Given the description of an element on the screen output the (x, y) to click on. 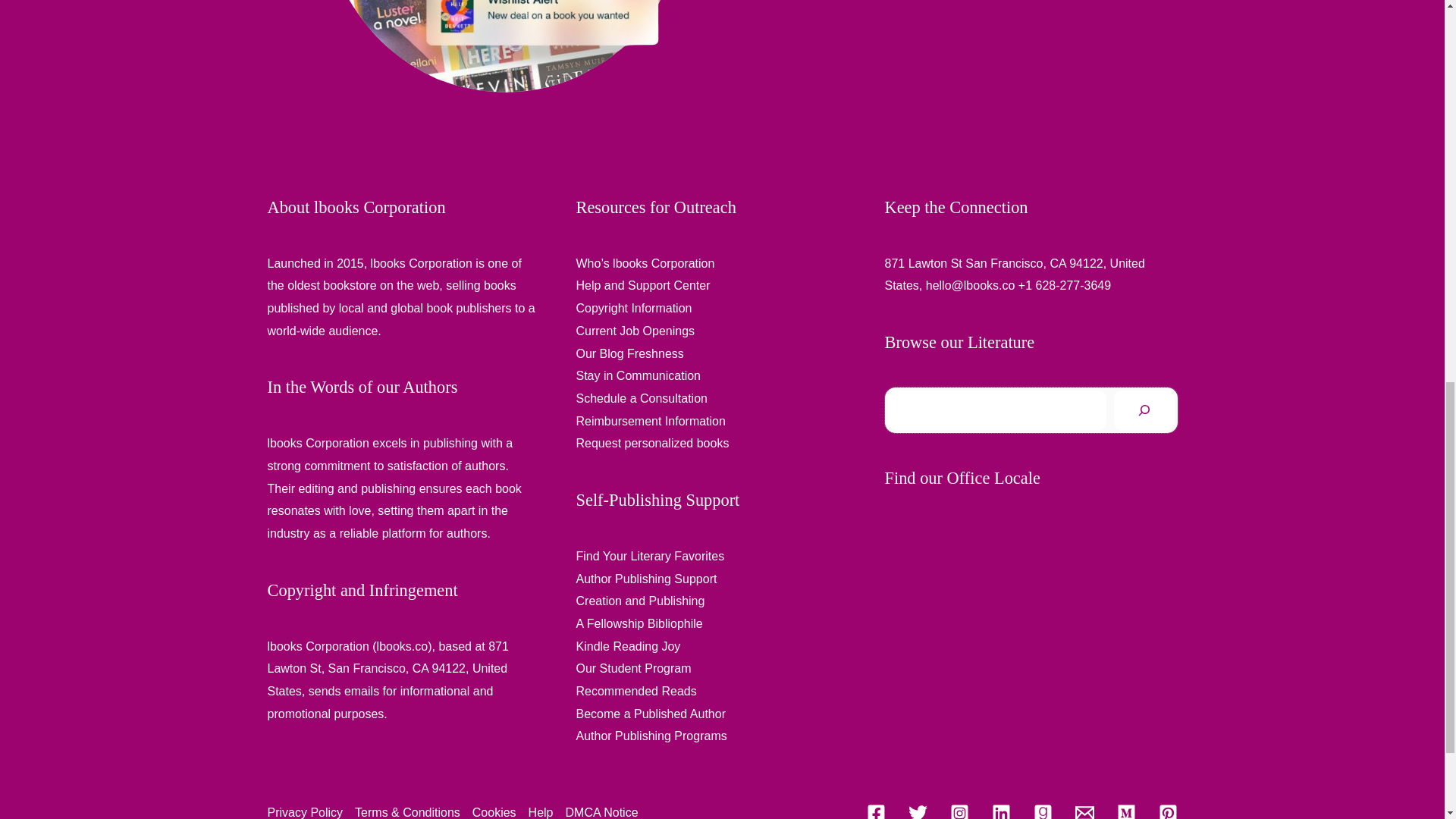
Our Student Program (633, 667)
Become a Published Author (650, 713)
DMCA Notice (599, 810)
Creation and Publishing (640, 600)
Recommended Reads (636, 690)
Copyright Information (634, 308)
Reimbursement Information (650, 420)
Current Job Openings (635, 330)
Author Publishing Support (646, 577)
Google Map for  (1029, 633)
